Given the description of an element on the screen output the (x, y) to click on. 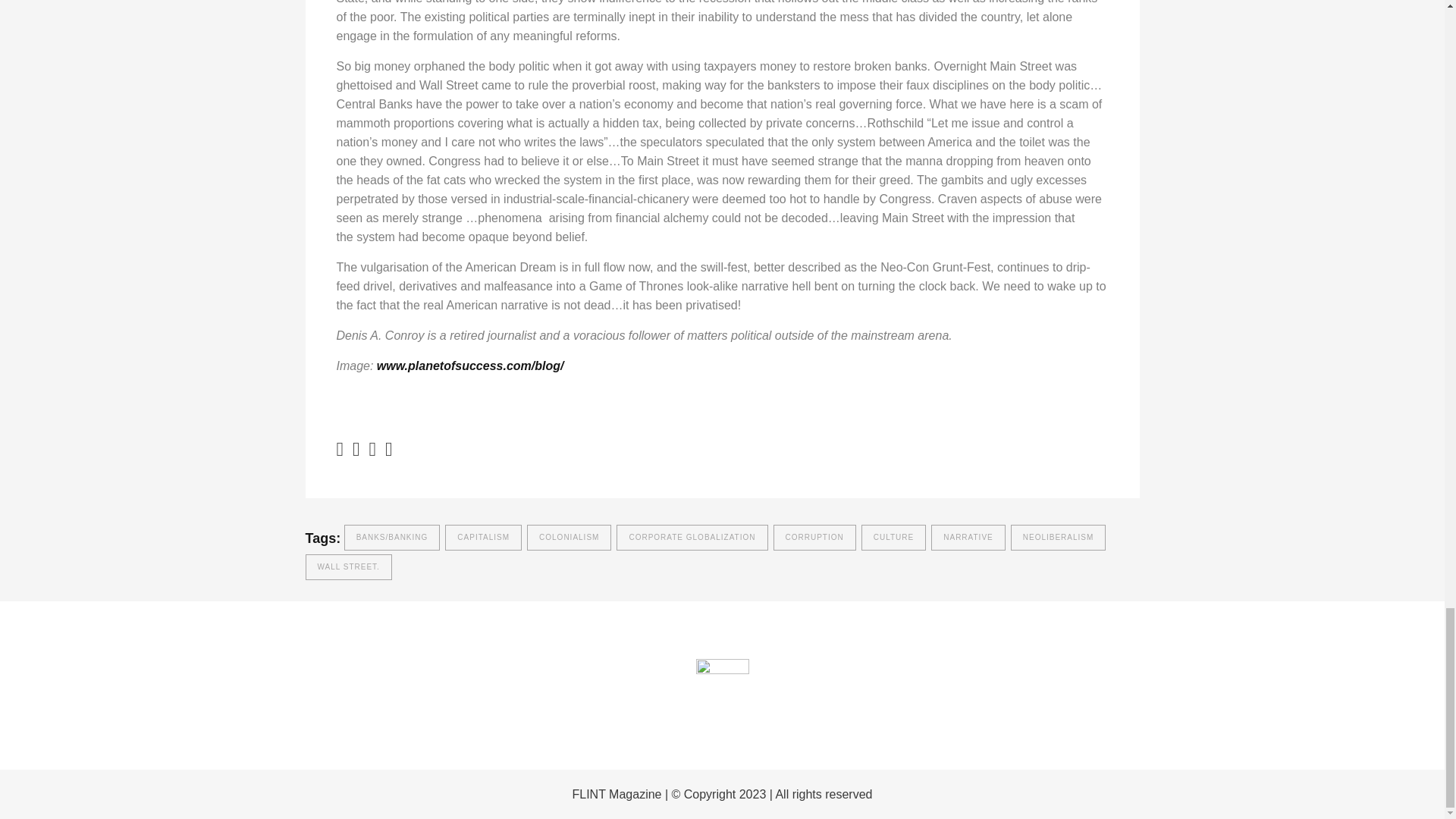
CAPITALISM (483, 537)
COLONIALISM (569, 537)
CORRUPTION (814, 537)
CORPORATE GLOBALIZATION (691, 537)
